Given the description of an element on the screen output the (x, y) to click on. 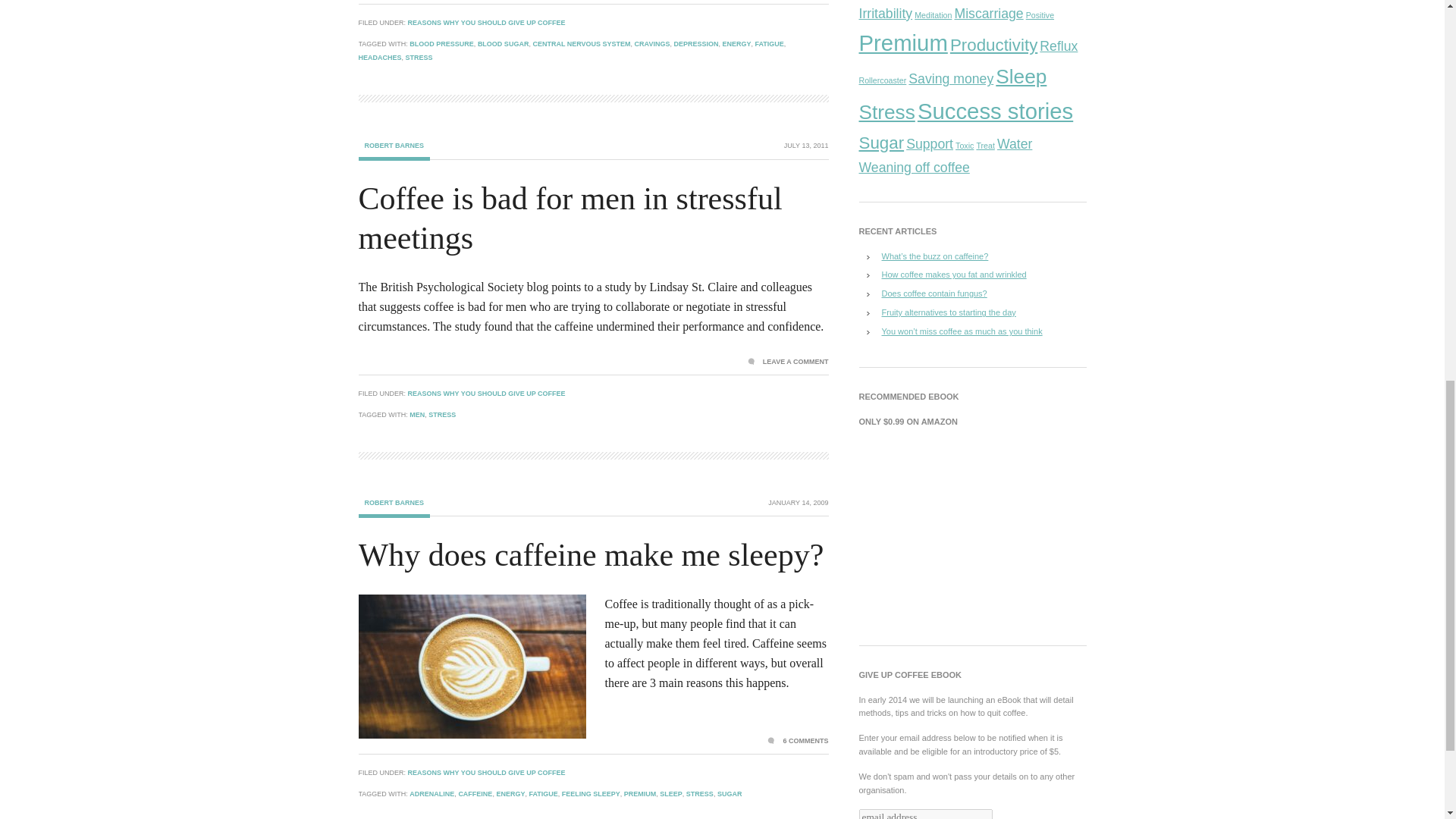
BLOOD PRESSURE (441, 43)
ROBERT BARNES (393, 507)
DEPRESSION (694, 43)
MEN (417, 414)
LEAVE A COMMENT (788, 361)
CENTRAL NERVOUS SYSTEM (581, 43)
HEADACHES (379, 57)
REASONS WHY YOU SHOULD GIVE UP COFFEE (486, 393)
FATIGUE (769, 43)
Coffee is bad for men in stressful meetings (569, 218)
REASONS WHY YOU SHOULD GIVE UP COFFEE (486, 22)
STRESS (419, 57)
REASONS WHY YOU SHOULD GIVE UP COFFEE (486, 772)
Why does caffeine make me sleepy? (591, 554)
ENERGY (736, 43)
